Given the description of an element on the screen output the (x, y) to click on. 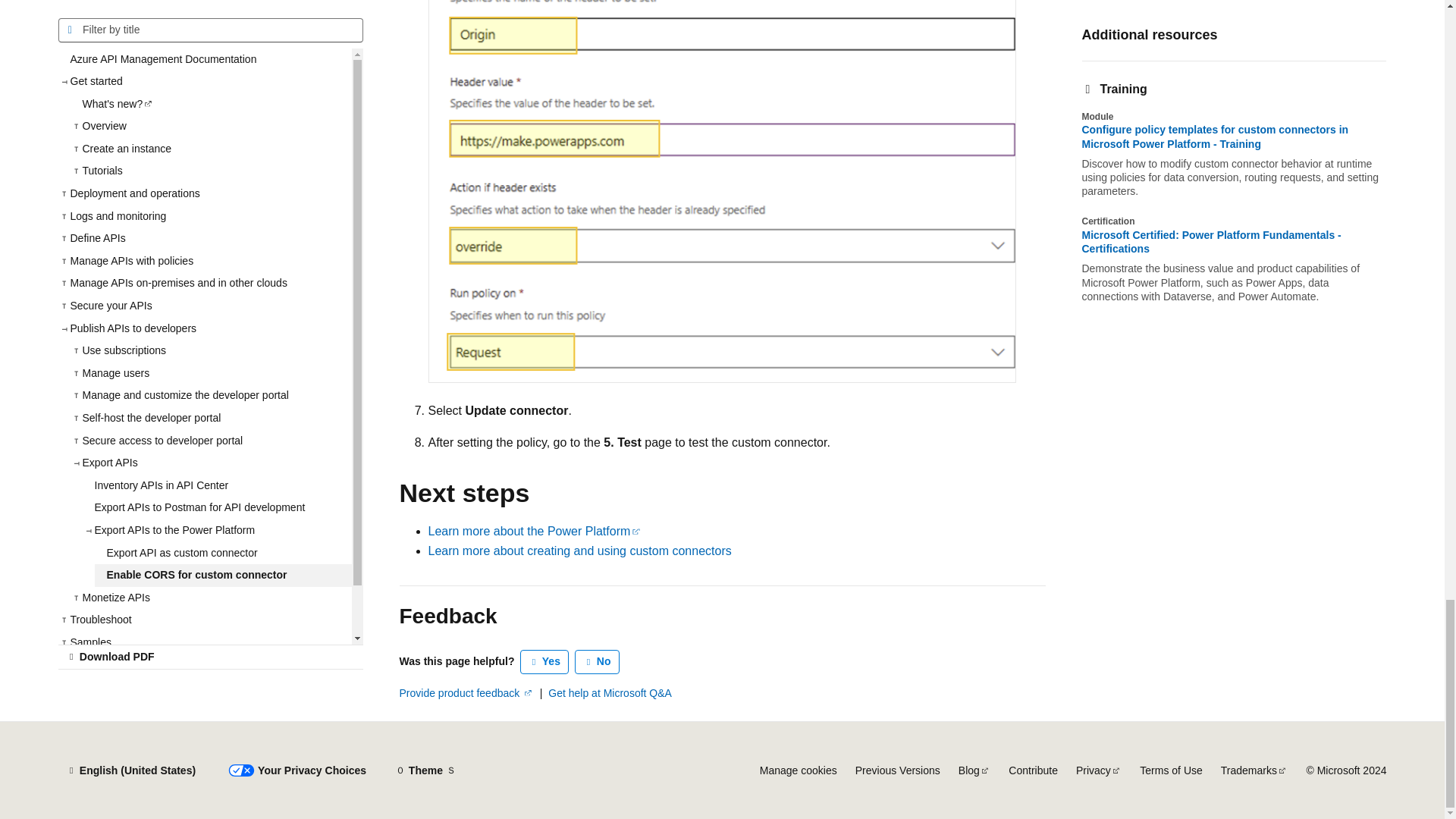
This article is helpful (544, 662)
This article is not helpful (597, 662)
Theme (425, 770)
